Given the description of an element on the screen output the (x, y) to click on. 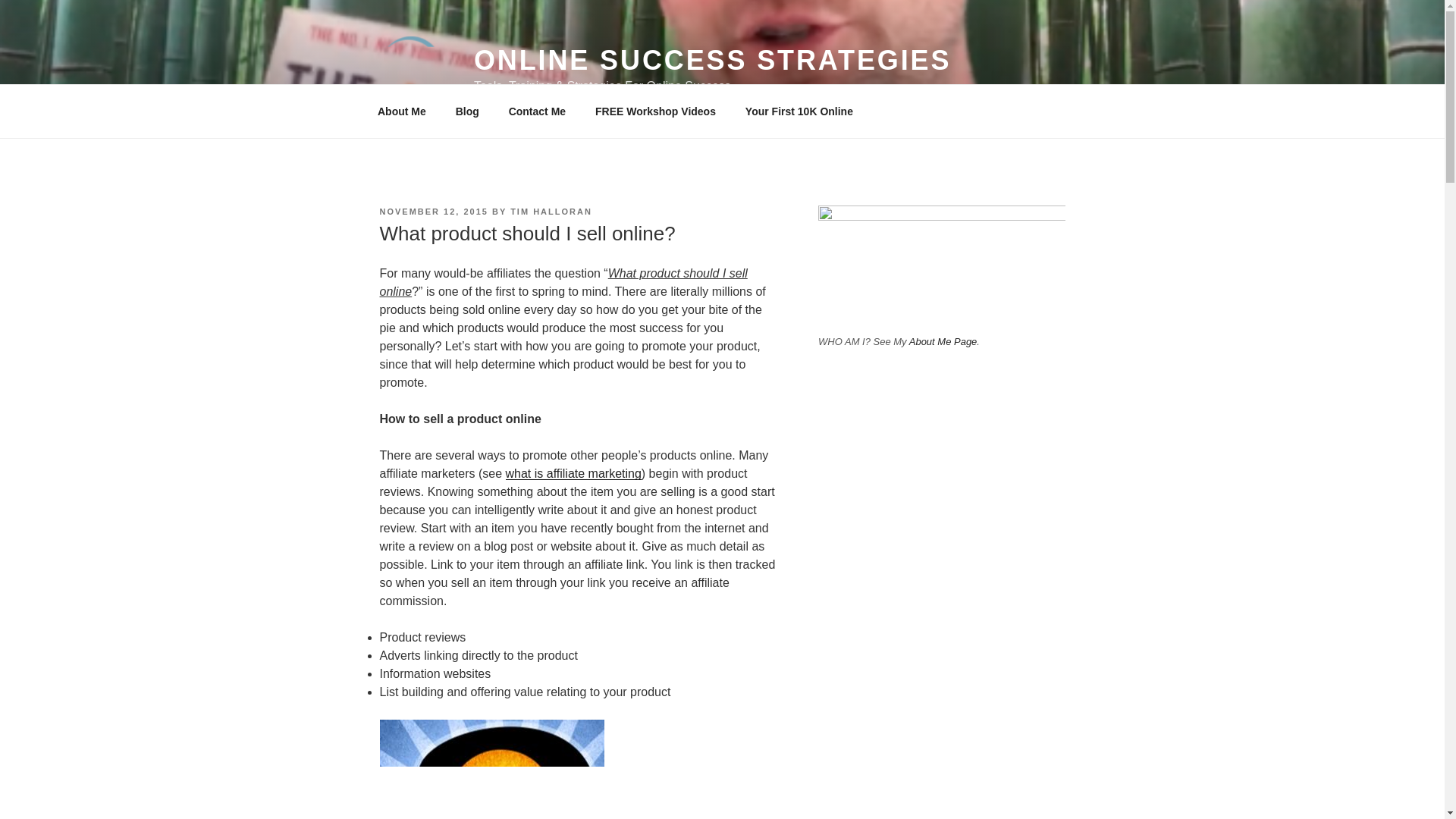
FREE Workshop Videos (655, 110)
About Me Page (942, 341)
what is affiliate marketing (572, 472)
Blog (467, 110)
Your First 10K Online (799, 110)
Contact Me (536, 110)
TIM HALLORAN (551, 211)
ONLINE SUCCESS STRATEGIES (712, 60)
What is Affiliate Marketing ? (572, 472)
About Me (401, 110)
NOVEMBER 12, 2015 (432, 211)
